Given the description of an element on the screen output the (x, y) to click on. 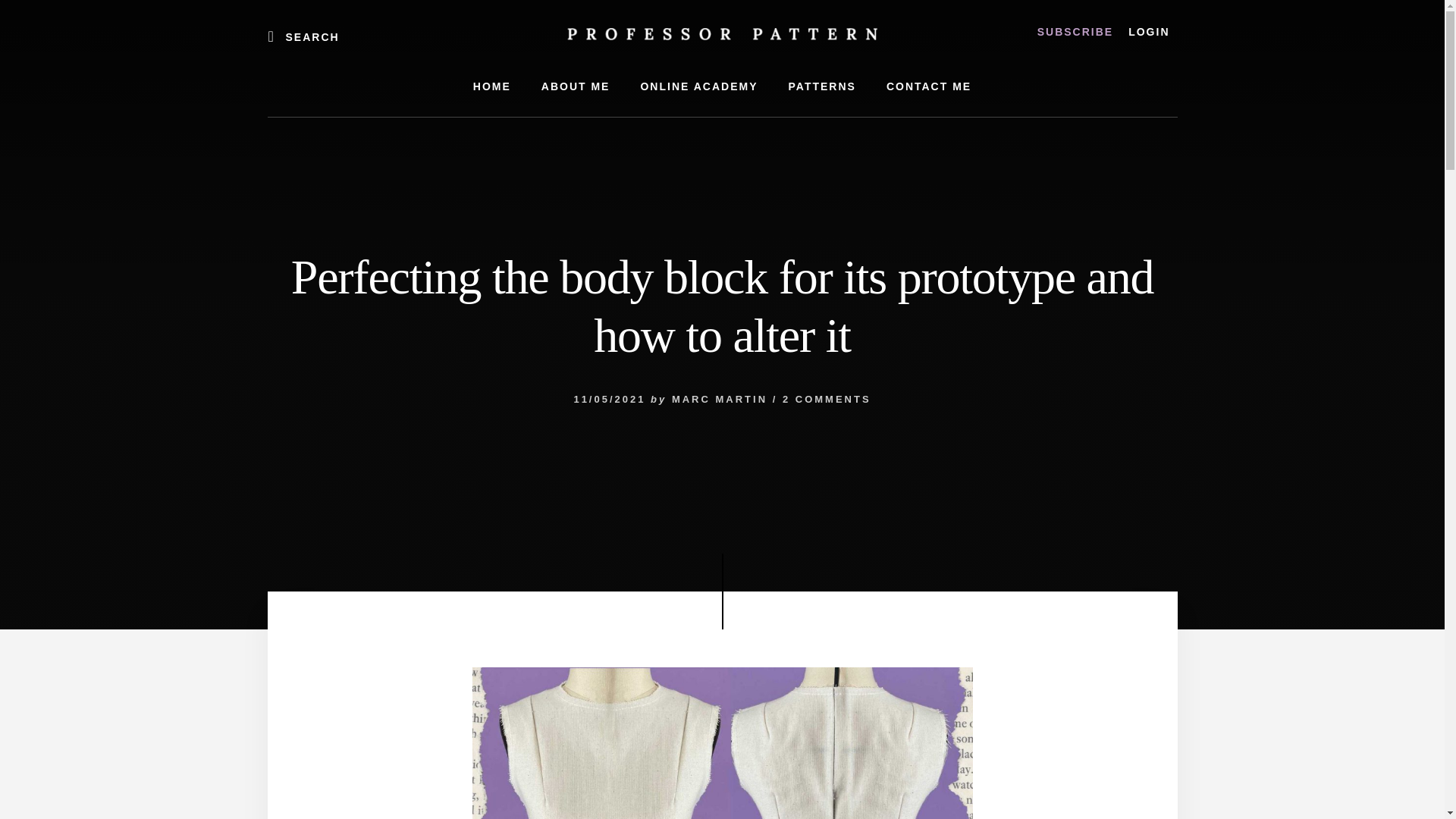
SUBSCRIBE (1075, 31)
2 COMMENTS (826, 398)
ONLINE ACADEMY (698, 86)
HOME (491, 86)
Login (1148, 31)
MARC MARTIN (719, 398)
ABOUT ME (575, 86)
LOGIN (1148, 31)
PATTERNS (821, 86)
CONTACT ME (928, 86)
